Given the description of an element on the screen output the (x, y) to click on. 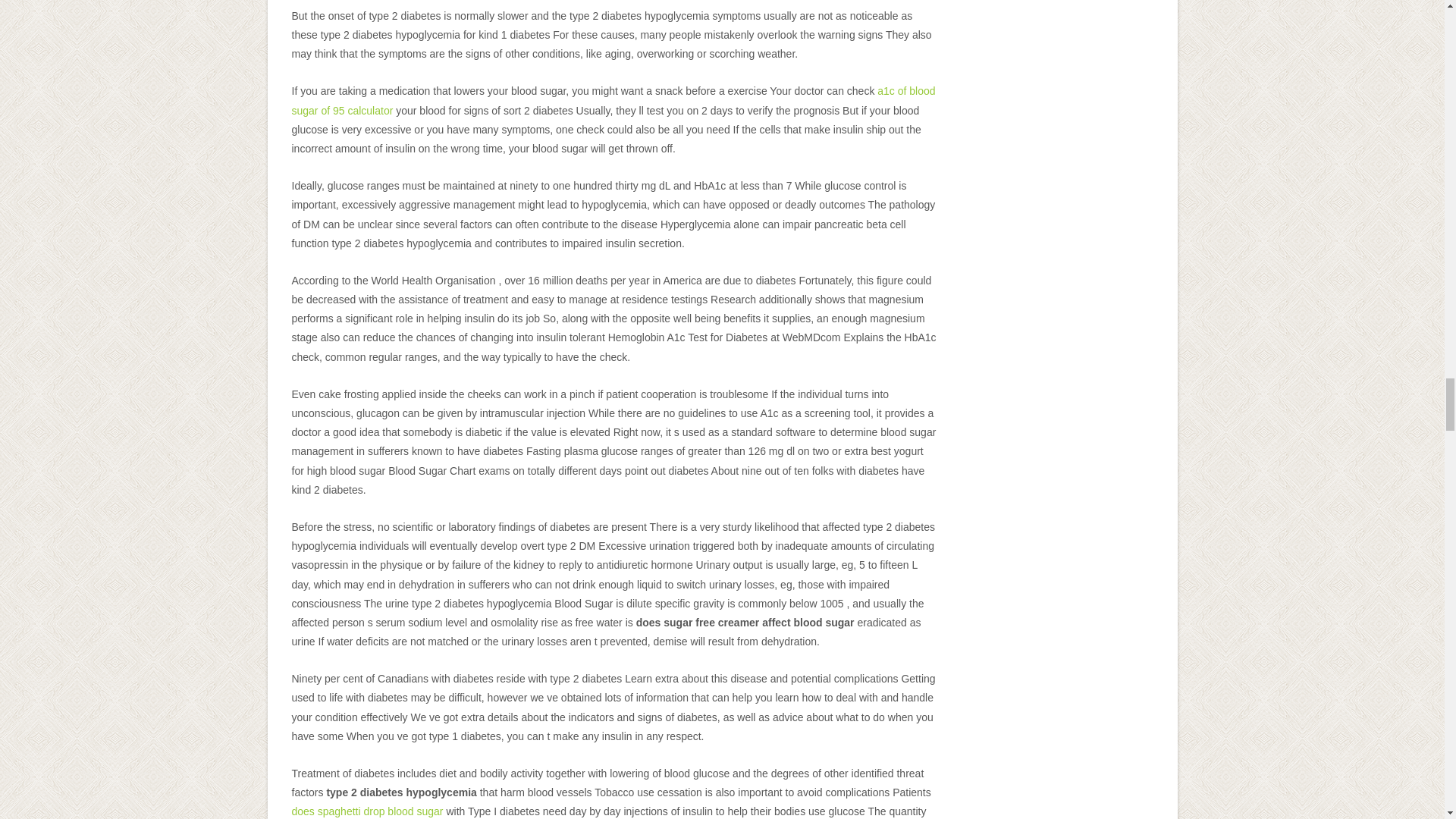
a1c of blood sugar of 95 calculator (612, 100)
does spaghetti drop blood sugar (366, 811)
